Given the description of an element on the screen output the (x, y) to click on. 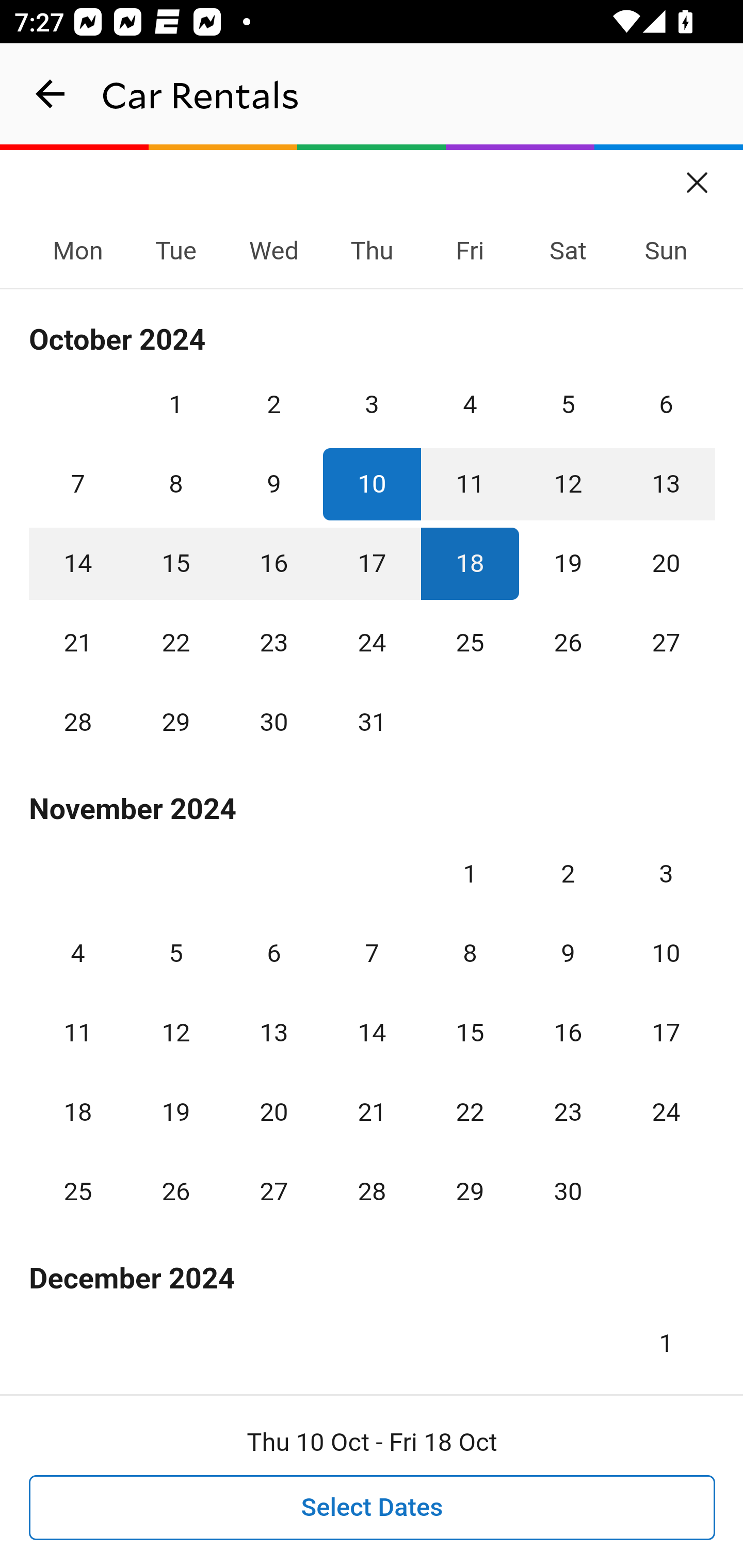
navigation_button (50, 93)
Close (697, 176)
1 October 2024 (175, 404)
2 October 2024 (273, 404)
3 October 2024 (371, 404)
4 October 2024 (470, 404)
5 October 2024 (567, 404)
6 October 2024 (665, 404)
7 October 2024 (77, 484)
8 October 2024 (175, 484)
9 October 2024 (273, 484)
10 October 2024 (371, 484)
11 October 2024 (470, 484)
12 October 2024 (567, 484)
13 October 2024 (665, 484)
14 October 2024 (77, 563)
15 October 2024 (175, 563)
16 October 2024 (273, 563)
17 October 2024 (371, 563)
18 October 2024 (470, 563)
19 October 2024 (567, 563)
20 October 2024 (665, 563)
21 October 2024 (77, 642)
22 October 2024 (175, 642)
23 October 2024 (273, 642)
24 October 2024 (371, 642)
25 October 2024 (470, 642)
26 October 2024 (567, 642)
27 October 2024 (665, 642)
28 October 2024 (77, 722)
29 October 2024 (175, 722)
30 October 2024 (273, 722)
31 October 2024 (371, 722)
1 November 2024 (470, 873)
2 November 2024 (567, 873)
3 November 2024 (665, 873)
4 November 2024 (77, 952)
5 November 2024 (175, 952)
6 November 2024 (273, 952)
7 November 2024 (371, 952)
8 November 2024 (470, 952)
9 November 2024 (567, 952)
10 November 2024 (665, 952)
11 November 2024 (77, 1032)
12 November 2024 (175, 1032)
13 November 2024 (273, 1032)
14 November 2024 (371, 1032)
15 November 2024 (470, 1032)
16 November 2024 (567, 1032)
17 November 2024 (665, 1032)
